Given the description of an element on the screen output the (x, y) to click on. 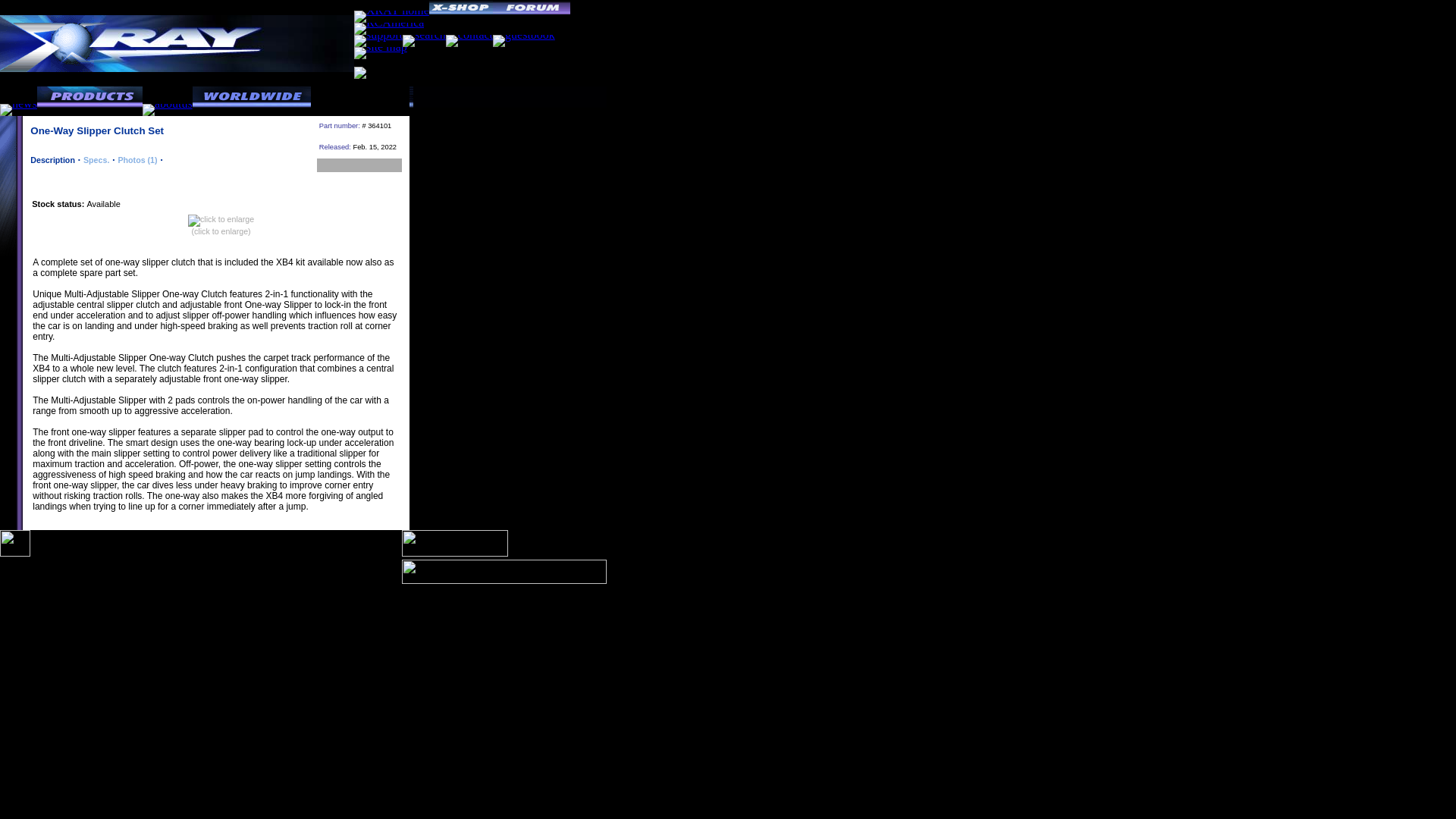
Specs. (95, 159)
Description (52, 159)
